Given the description of an element on the screen output the (x, y) to click on. 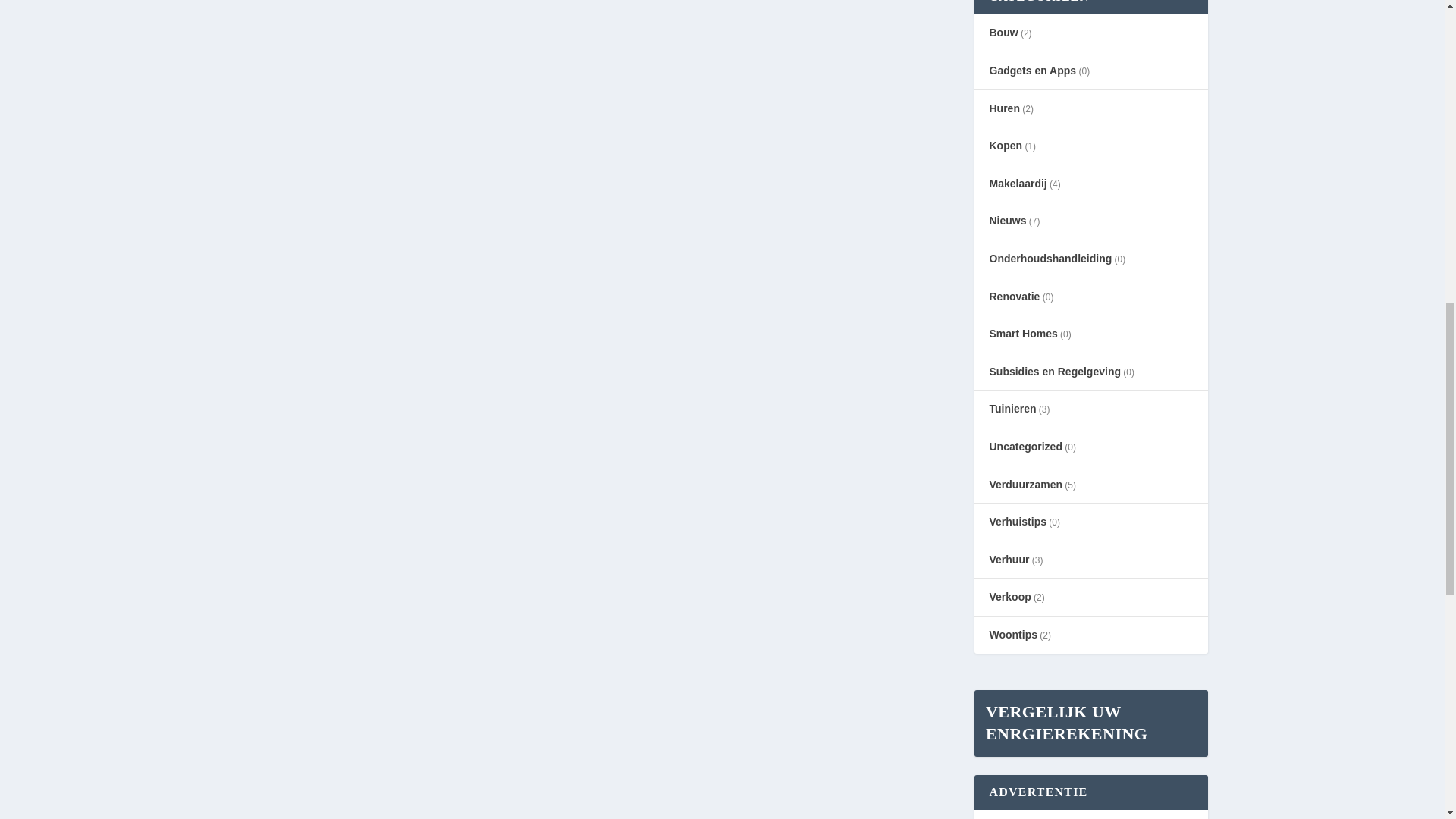
Bouw (1002, 32)
Gadgets en Apps (1031, 70)
